Given the description of an element on the screen output the (x, y) to click on. 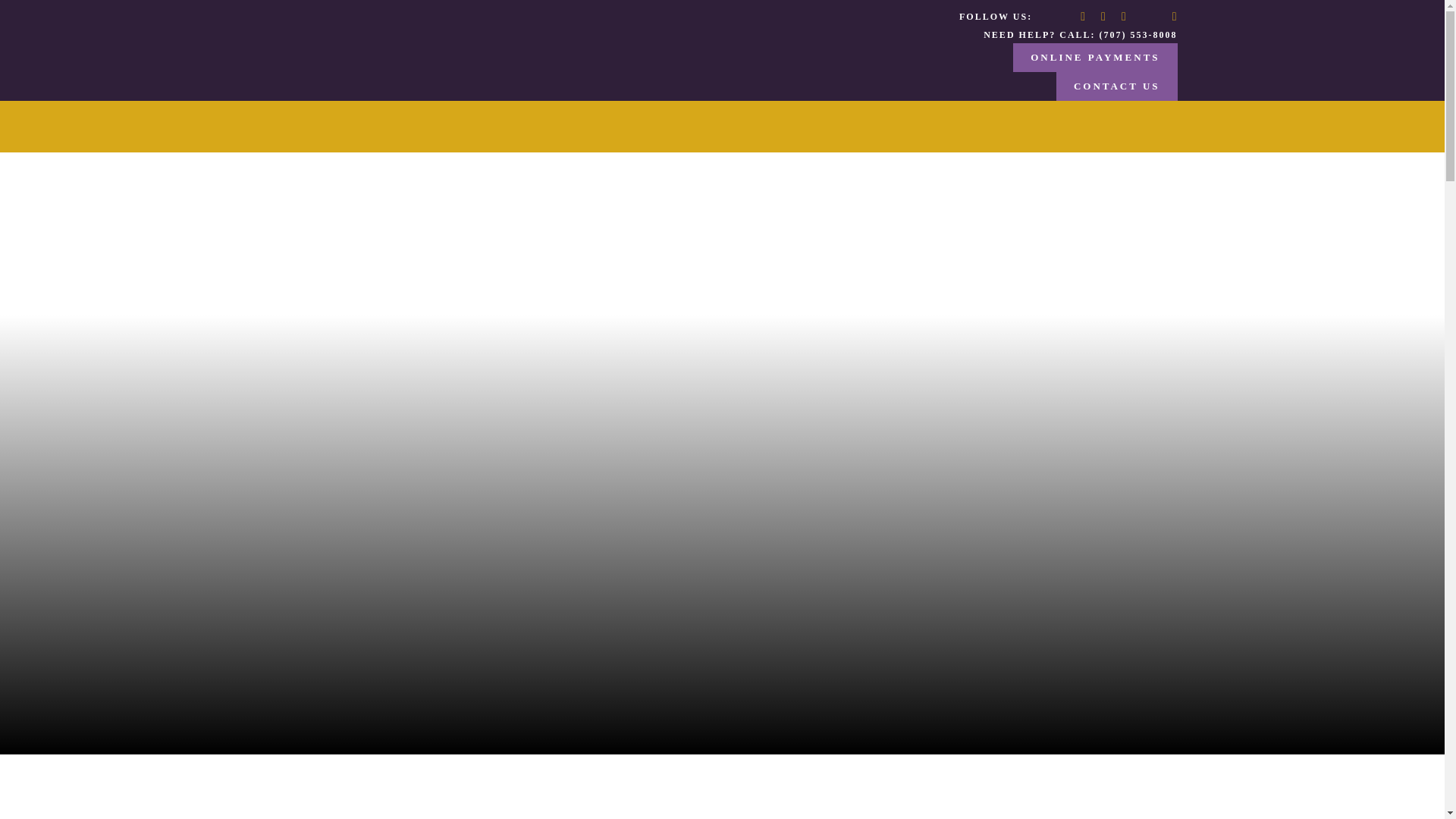
CONTACT US (1117, 86)
Google (1149, 17)
ONLINE PAYMENTS (1094, 57)
